Given the description of an element on the screen output the (x, y) to click on. 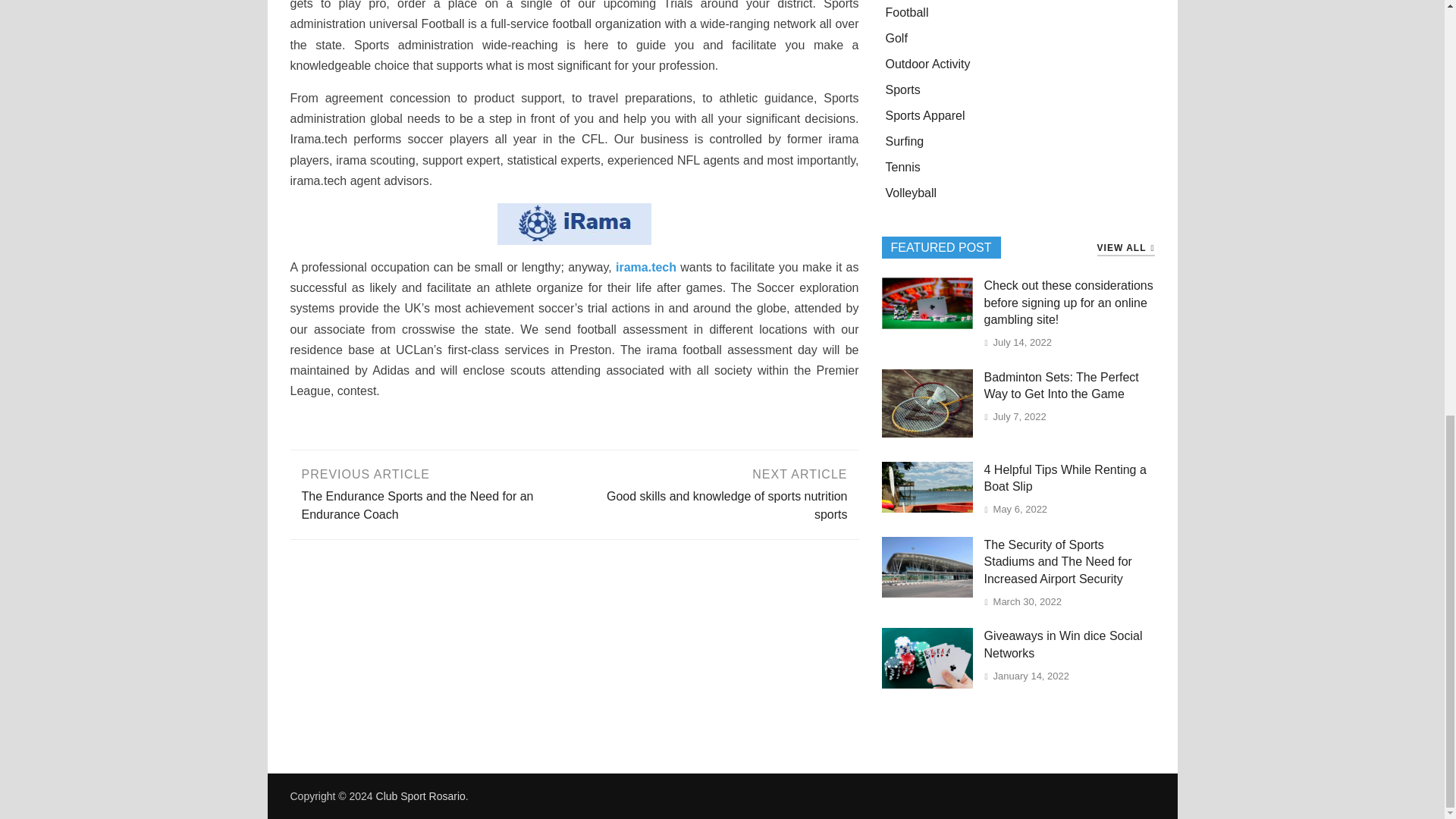
irama.tech (646, 267)
Badminton Sets: The Perfect Way to Get Into the Game (927, 431)
Giveaways in Win dice Social Networks (927, 684)
4 Helpful Tips While Renting a Boat Slip (927, 508)
Club Sport Rosario (420, 796)
